Given the description of an element on the screen output the (x, y) to click on. 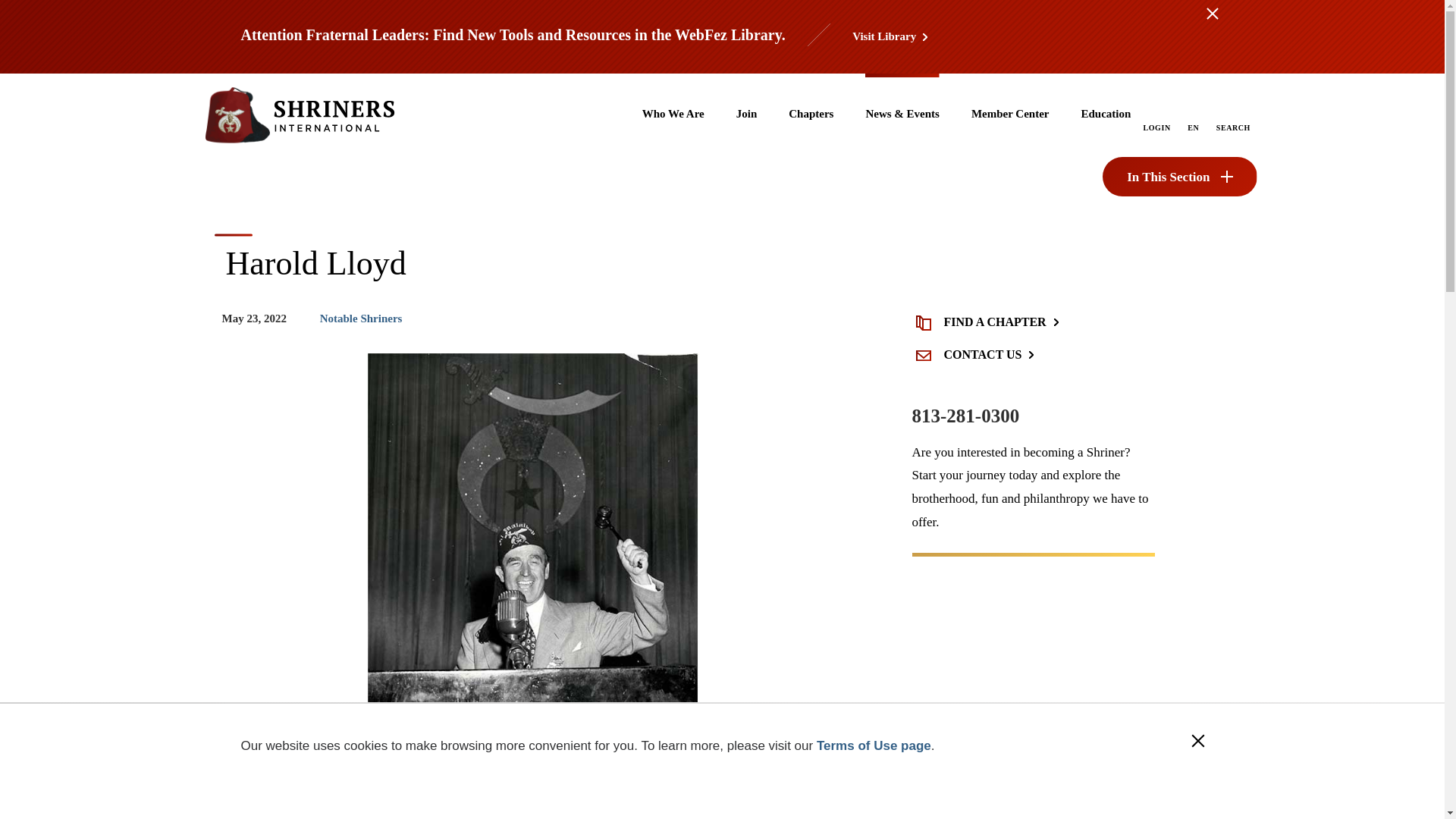
Who We Are (673, 114)
EN (1192, 126)
Visit Library (891, 36)
Member Center (1010, 114)
Terms of Use page (873, 745)
